Given the description of an element on the screen output the (x, y) to click on. 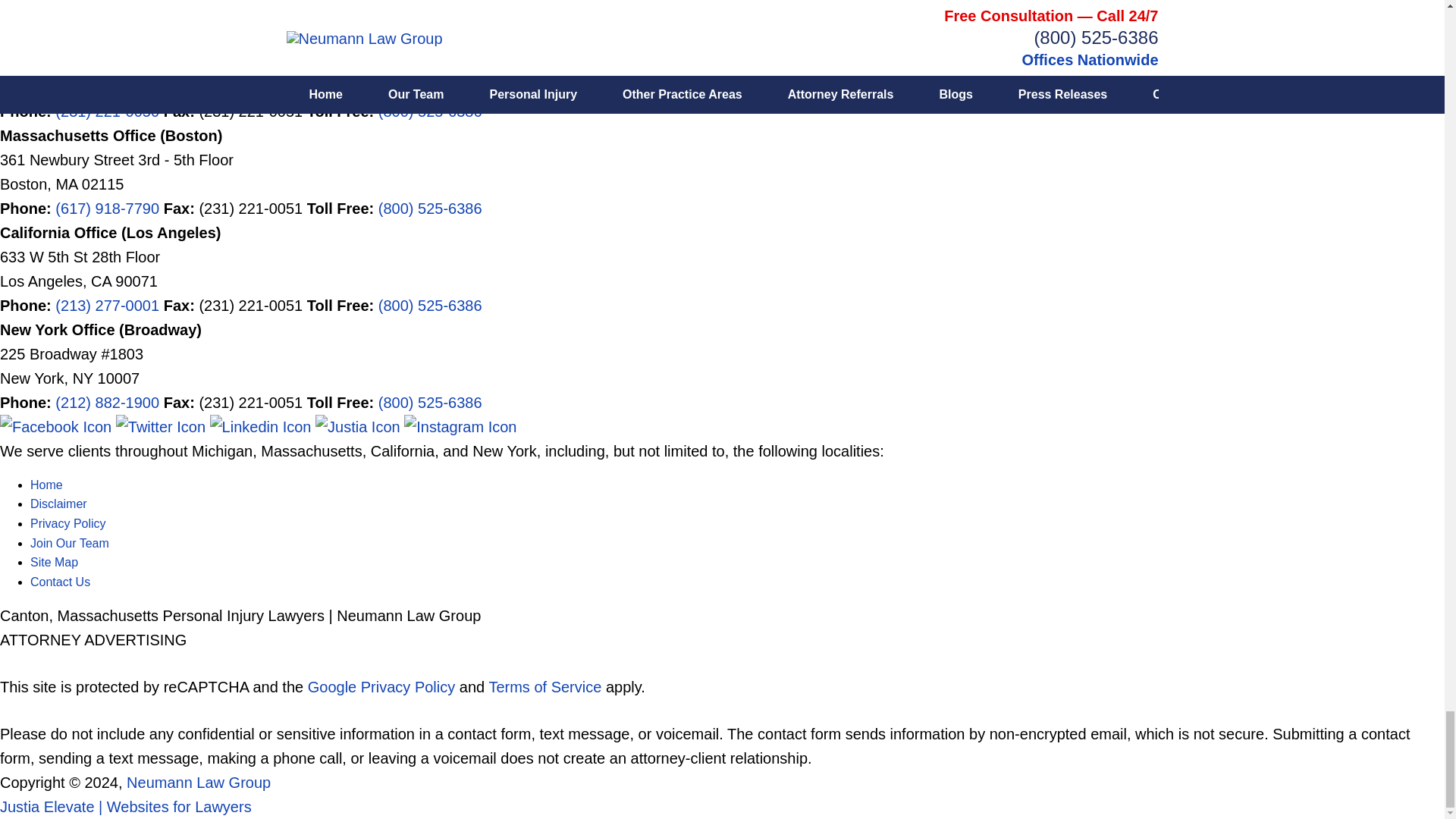
Instagram (460, 426)
Justia (359, 426)
Twitter (162, 426)
Facebook (58, 426)
Linkedin (262, 426)
